Given the description of an element on the screen output the (x, y) to click on. 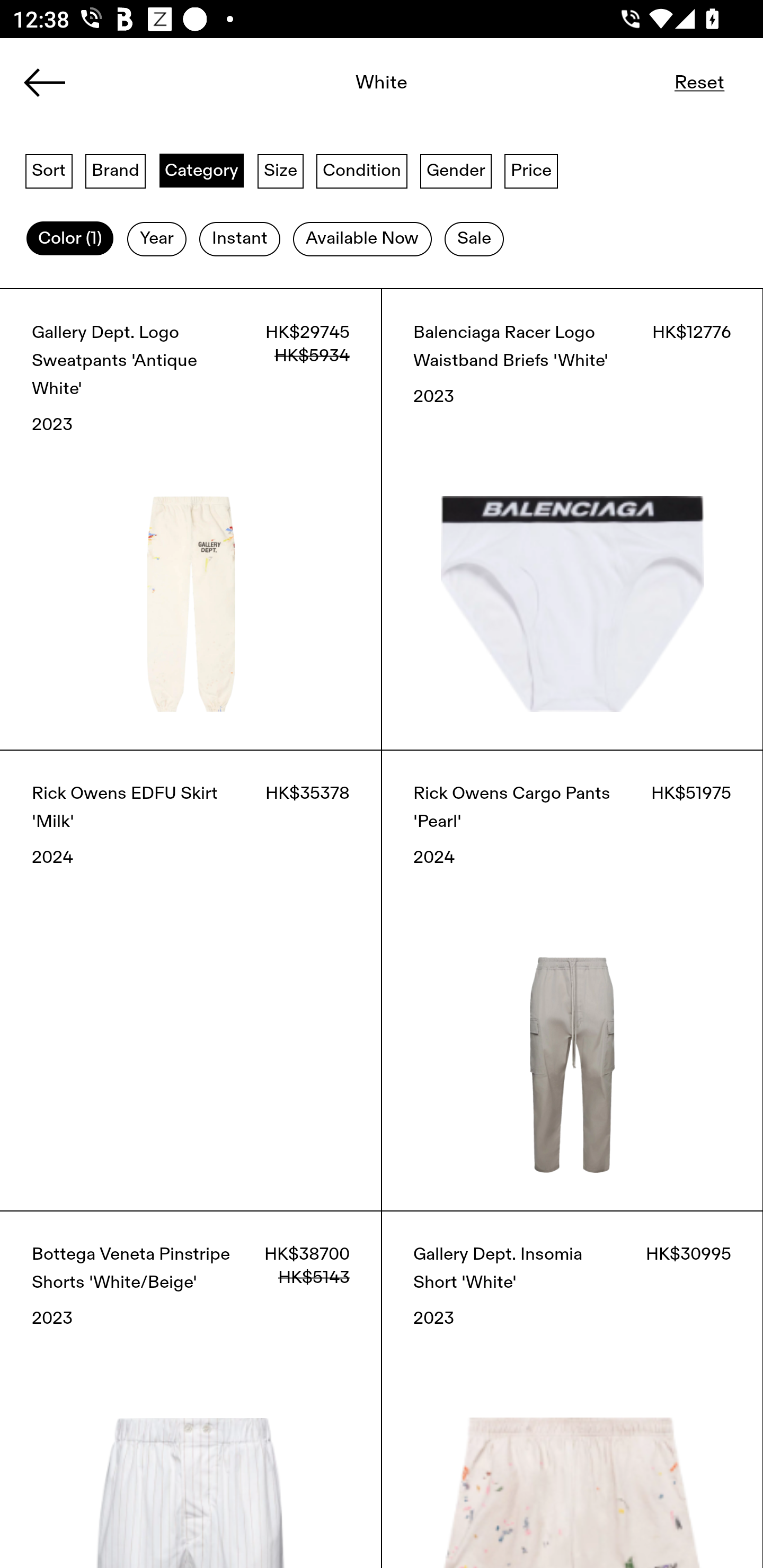
Reset (699, 82)
Sort (48, 170)
Brand (115, 170)
Category (201, 170)
Size (280, 170)
Condition (361, 170)
Gender (455, 170)
Price (530, 170)
Color (1) (69, 239)
Year (156, 239)
Instant (239, 239)
Available Now (361, 239)
Sale (473, 239)
Rick Owens EDFU Skirt 'Milk' HK$35378 2024 (190, 979)
Rick Owens Cargo Pants 'Pearl' HK$51975 2024 (572, 979)
Gallery Dept. Insomia Short 'White' HK$30995 2023 (572, 1389)
